Given the description of an element on the screen output the (x, y) to click on. 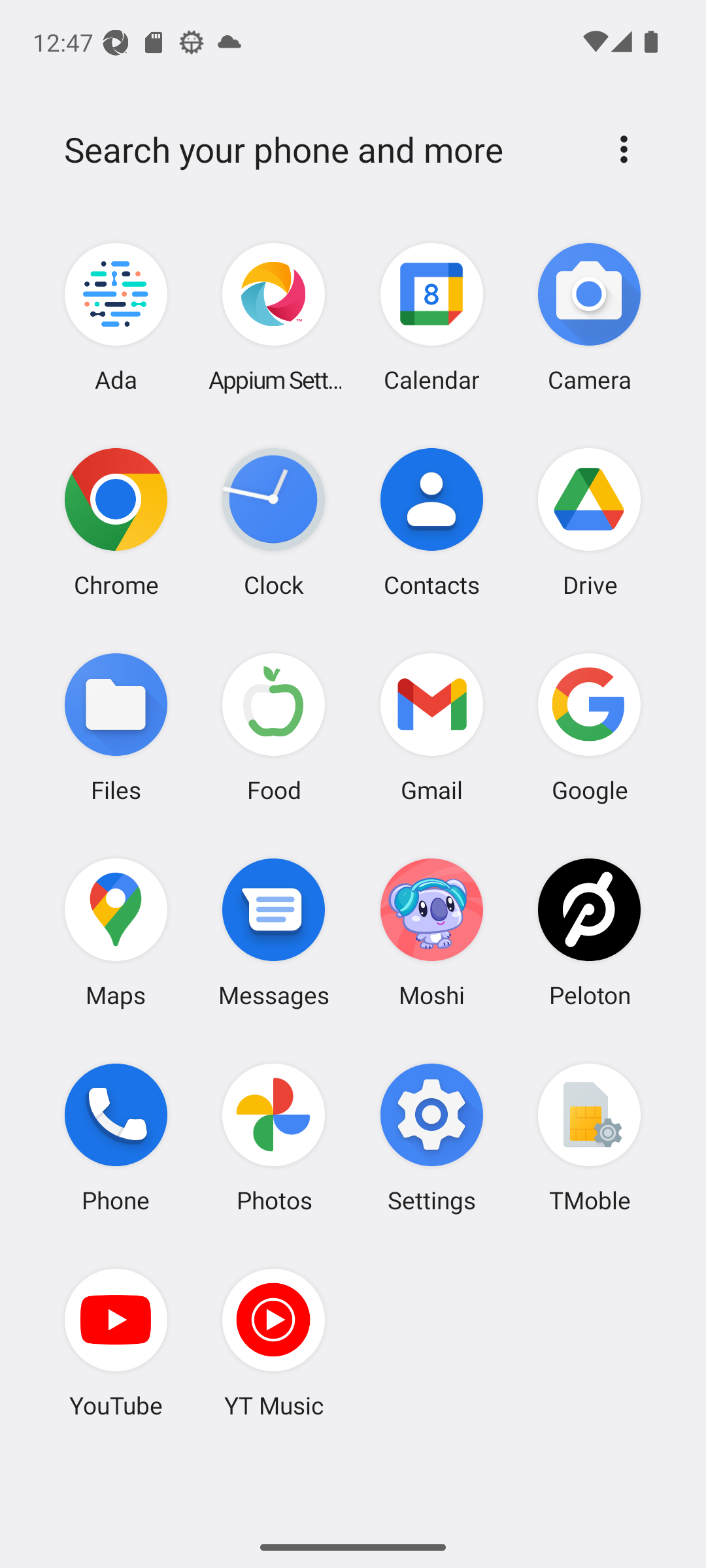
Search your phone and more (321, 149)
Preferences (623, 149)
Ada (115, 317)
Appium Settings (273, 317)
Calendar (431, 317)
Camera (589, 317)
Chrome (115, 522)
Clock (273, 522)
Contacts (431, 522)
Drive (589, 522)
Files (115, 726)
Food (273, 726)
Gmail (431, 726)
Google (589, 726)
Maps (115, 931)
Messages (273, 931)
Moshi (431, 931)
Peloton (589, 931)
Phone (115, 1137)
Photos (273, 1137)
Settings (431, 1137)
TMoble (589, 1137)
YouTube (115, 1342)
YT Music (273, 1342)
